Given the description of an element on the screen output the (x, y) to click on. 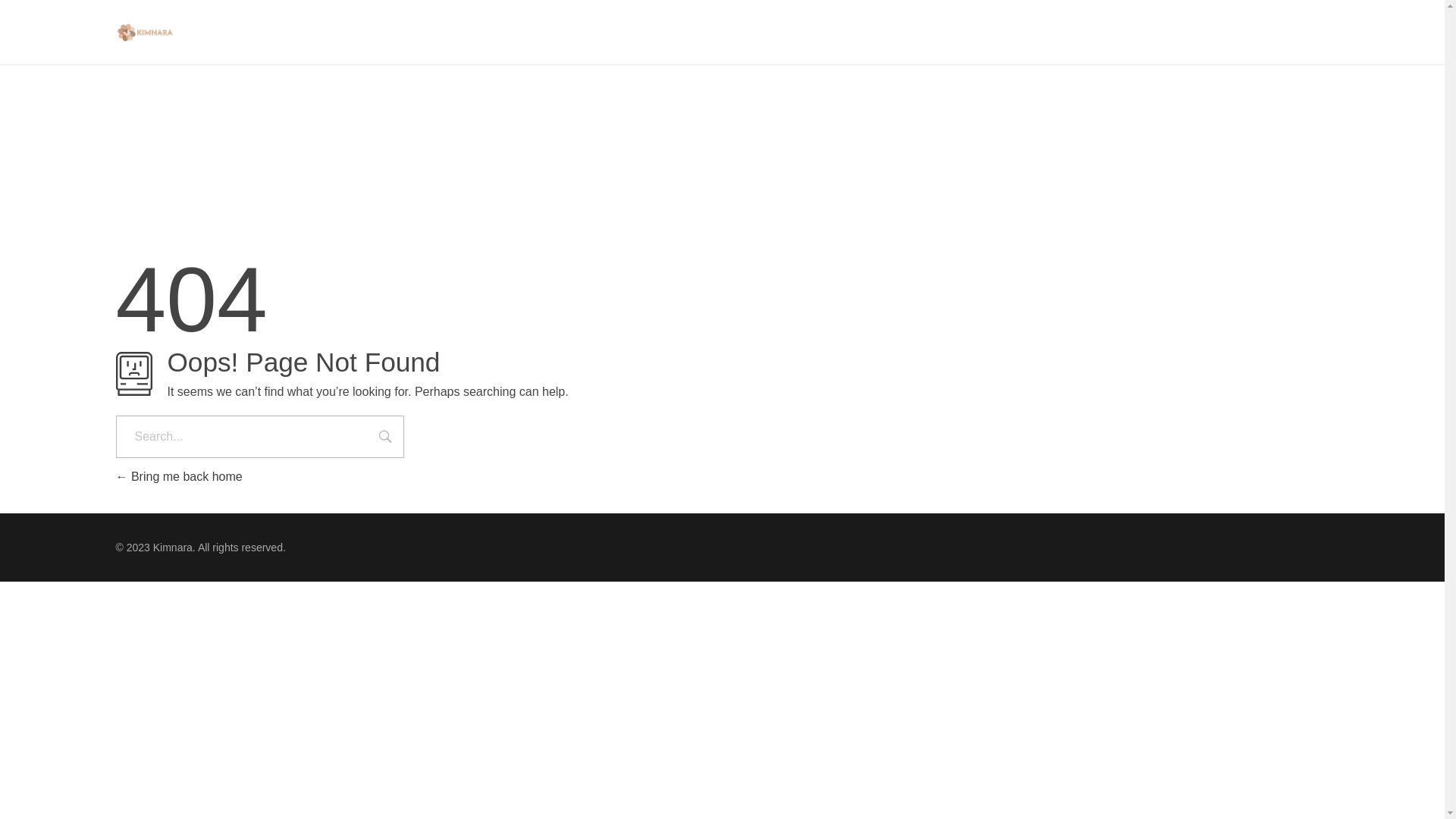
Bring me back home Element type: text (178, 476)
Search Element type: text (385, 438)
Kimnara Element type: text (151, 64)
